Given the description of an element on the screen output the (x, y) to click on. 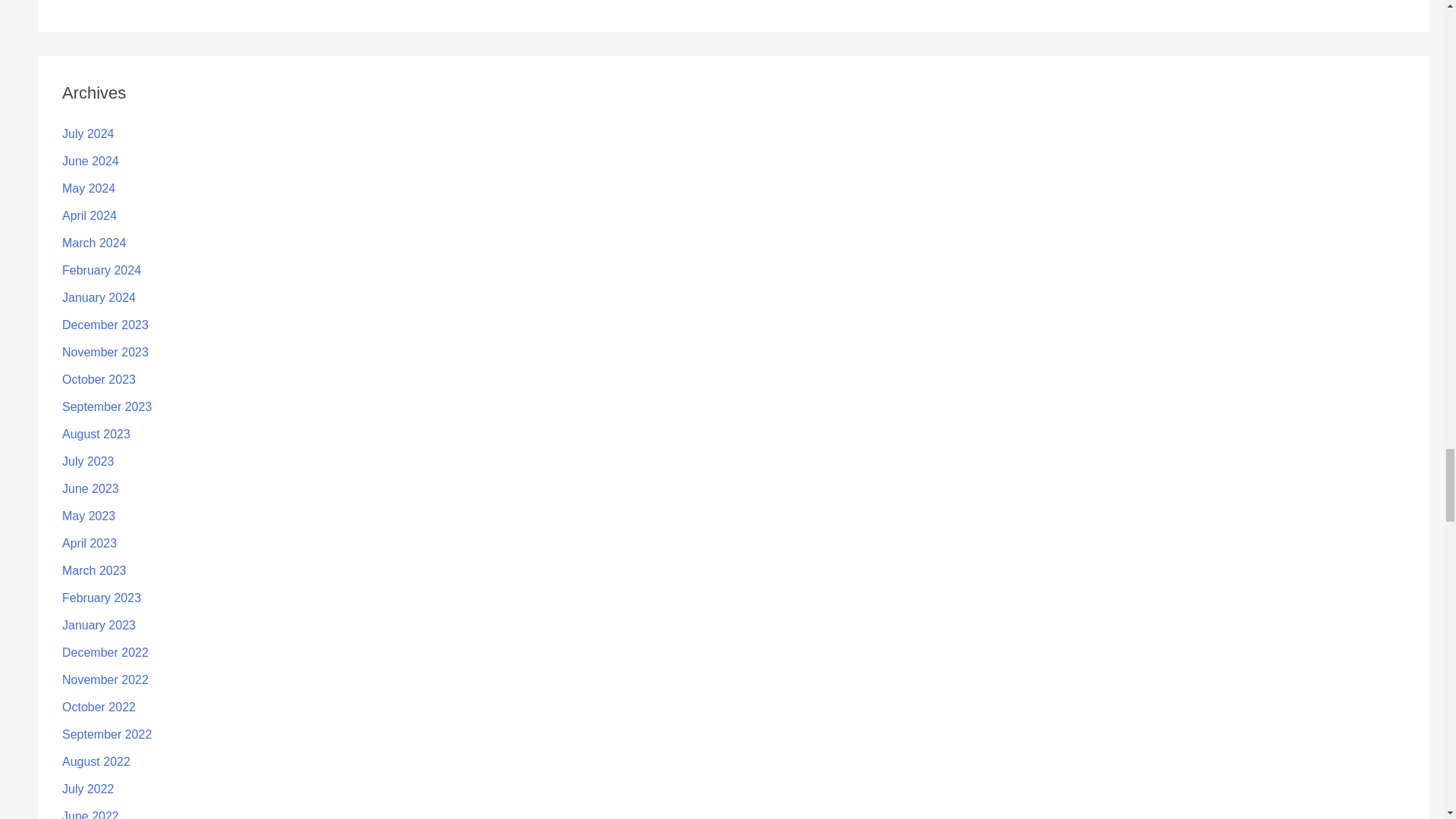
June 2024 (90, 160)
November 2023 (105, 351)
April 2024 (89, 215)
January 2024 (98, 297)
December 2023 (105, 324)
February 2024 (101, 269)
October 2023 (98, 379)
July 2024 (88, 133)
March 2024 (94, 242)
May 2024 (88, 187)
